Given the description of an element on the screen output the (x, y) to click on. 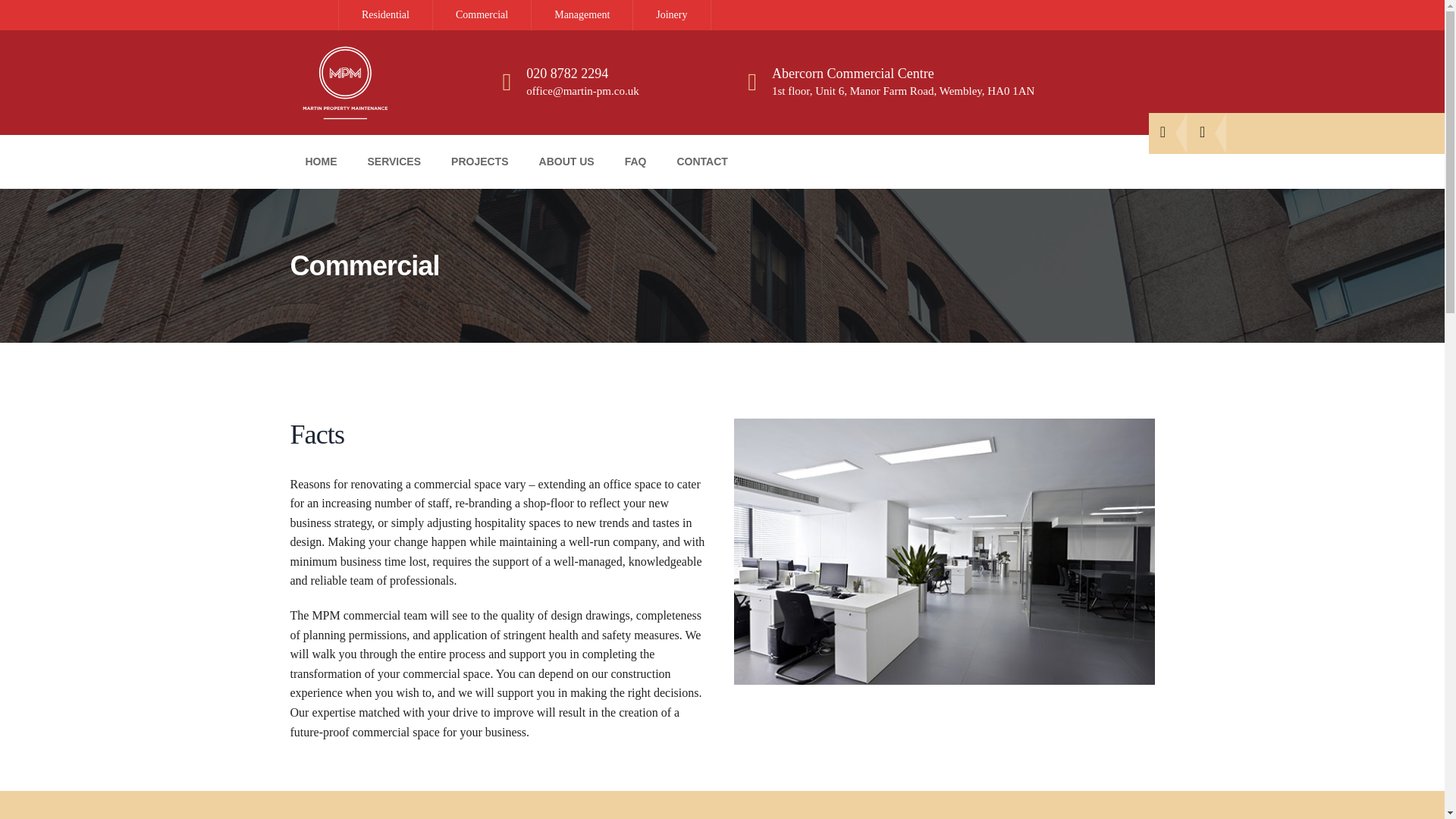
Management (582, 14)
Joinery (671, 14)
FAQ (636, 160)
HOME (320, 160)
Commercial (481, 14)
SERVICES (393, 160)
CONTACT (701, 160)
Residential (385, 14)
ABOUT US (567, 160)
PROJECTS (478, 160)
